Given the description of an element on the screen output the (x, y) to click on. 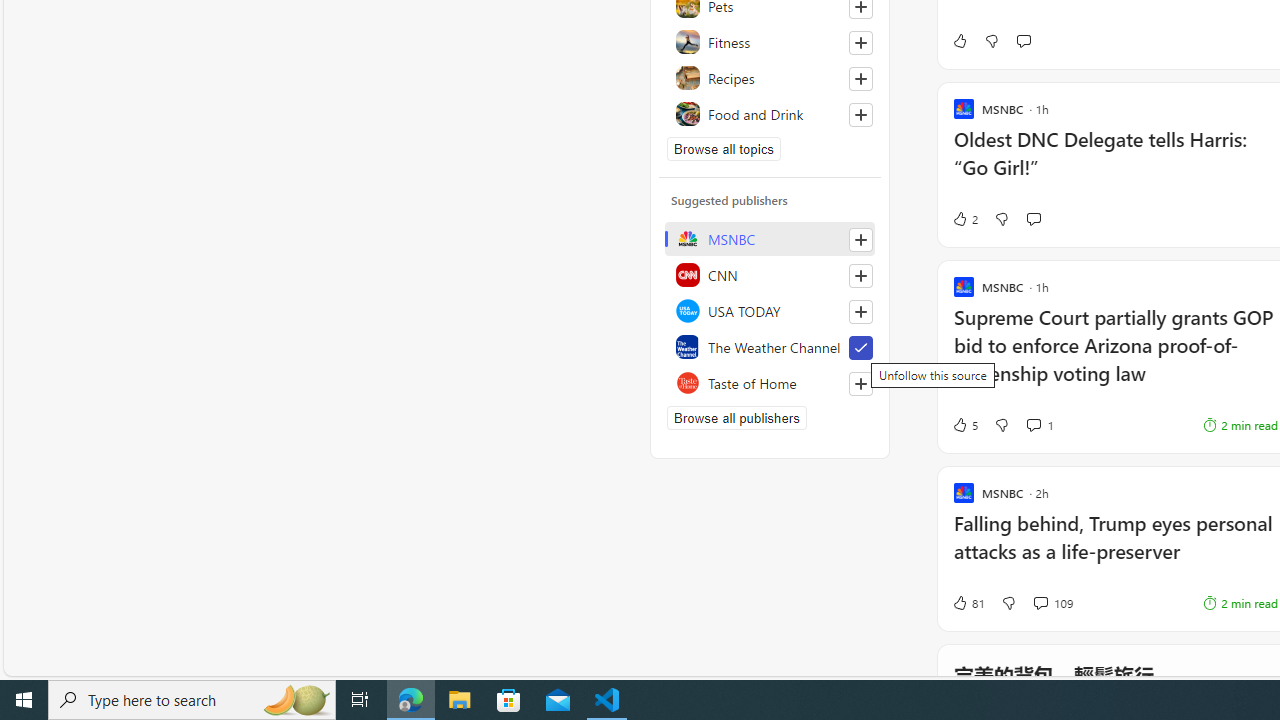
Browse all topics (724, 148)
